Given the description of an element on the screen output the (x, y) to click on. 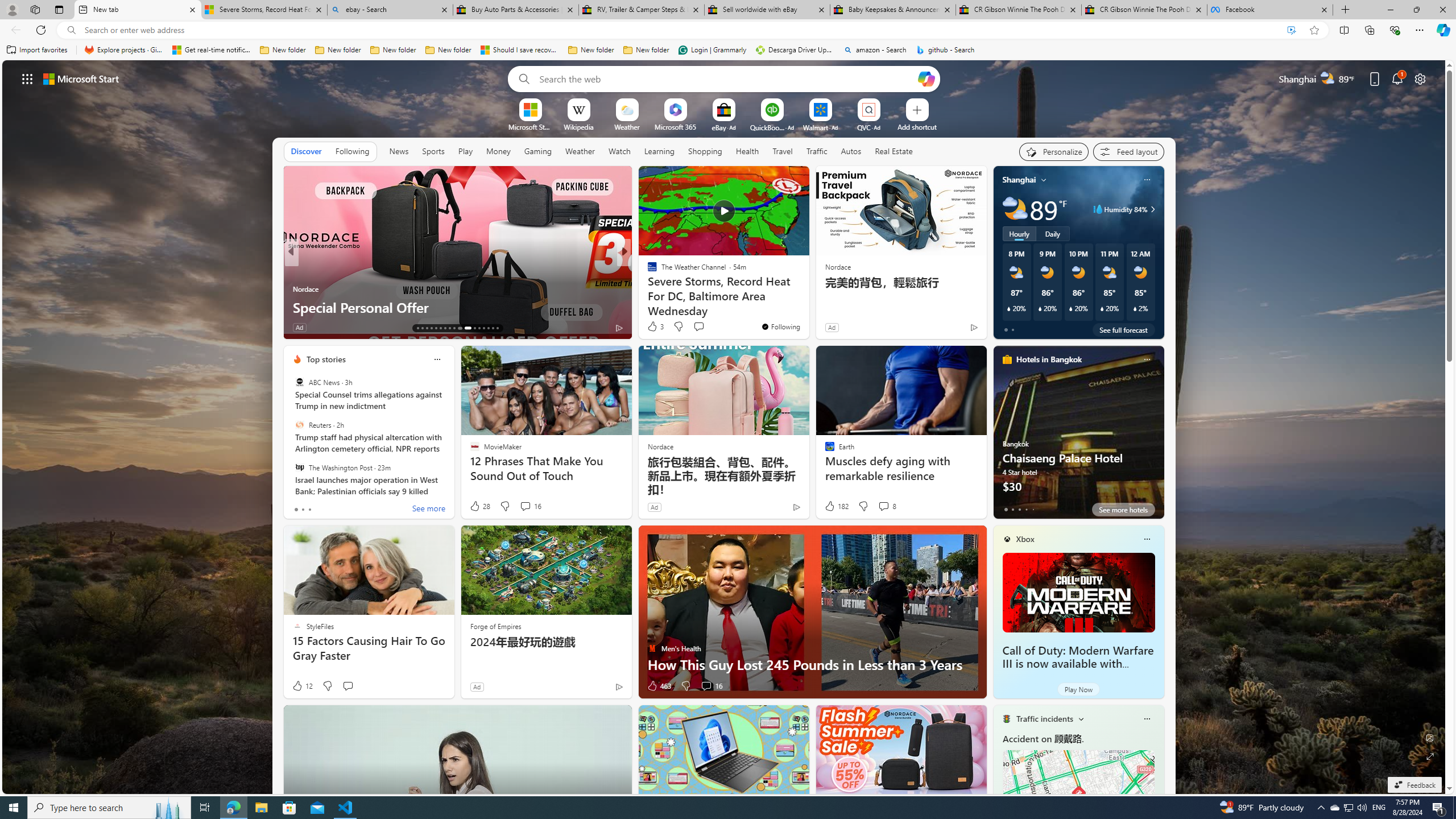
Watch (619, 151)
The Washington Post (299, 466)
Copilot (Ctrl+Shift+.) (1442, 29)
Close (1442, 9)
AutomationID: tab-21 (454, 328)
Weather (580, 151)
See more hotels (1123, 509)
hotels-header-icon (1006, 358)
Traffic (816, 151)
AutomationID: tab-22 (458, 328)
AutomationID: tab-23 (466, 328)
Open Copilot (926, 78)
Travel (782, 151)
Wikipedia (578, 126)
